Given the description of an element on the screen output the (x, y) to click on. 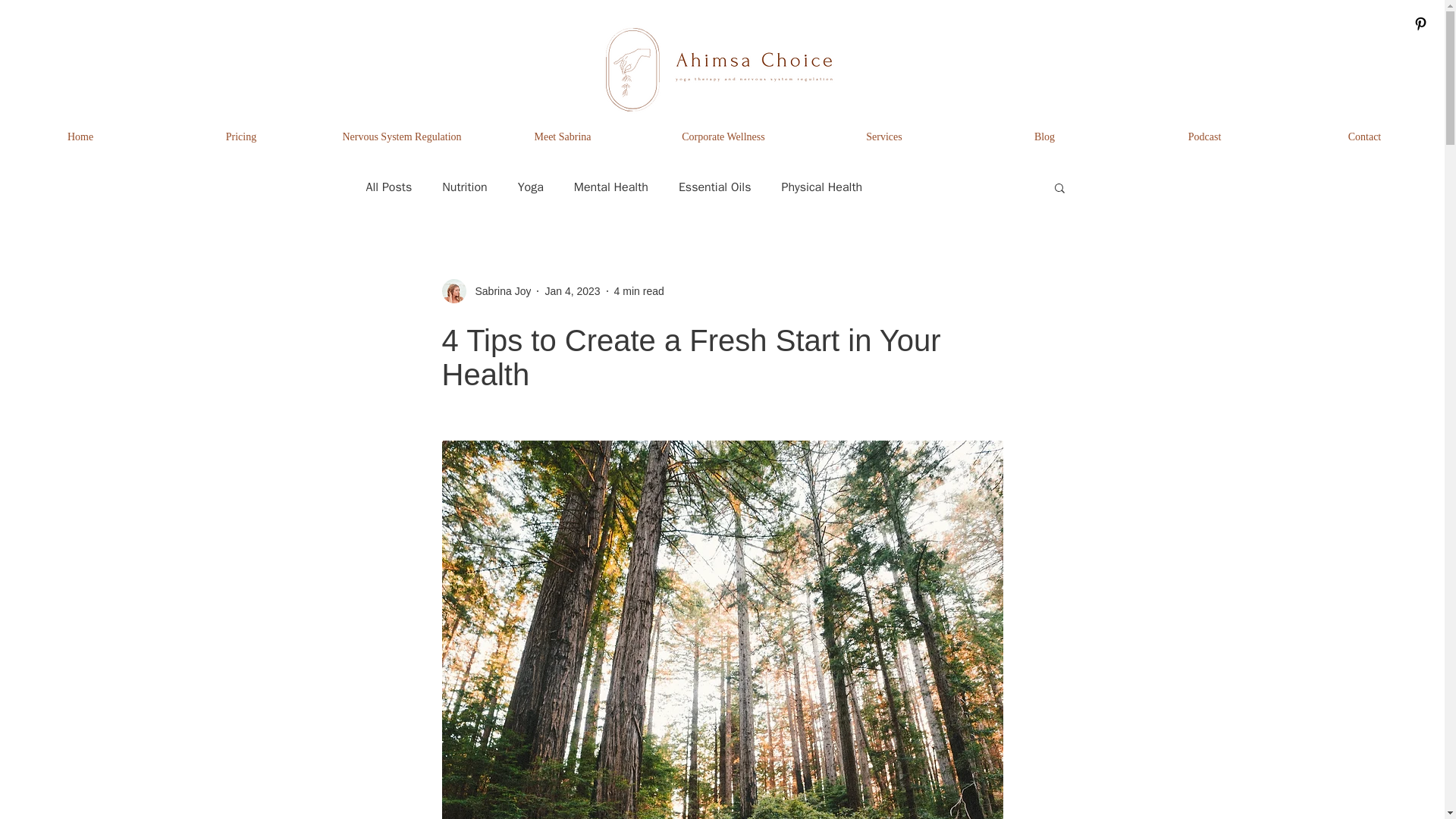
Physical Health (820, 186)
4 min read (638, 291)
Podcast (1204, 137)
All Posts (388, 186)
Jan 4, 2023 (571, 291)
Mental Health (610, 186)
Blog (1043, 137)
Sabrina Joy (498, 291)
Pricing (240, 137)
Sabrina Joy (486, 291)
